Given the description of an element on the screen output the (x, y) to click on. 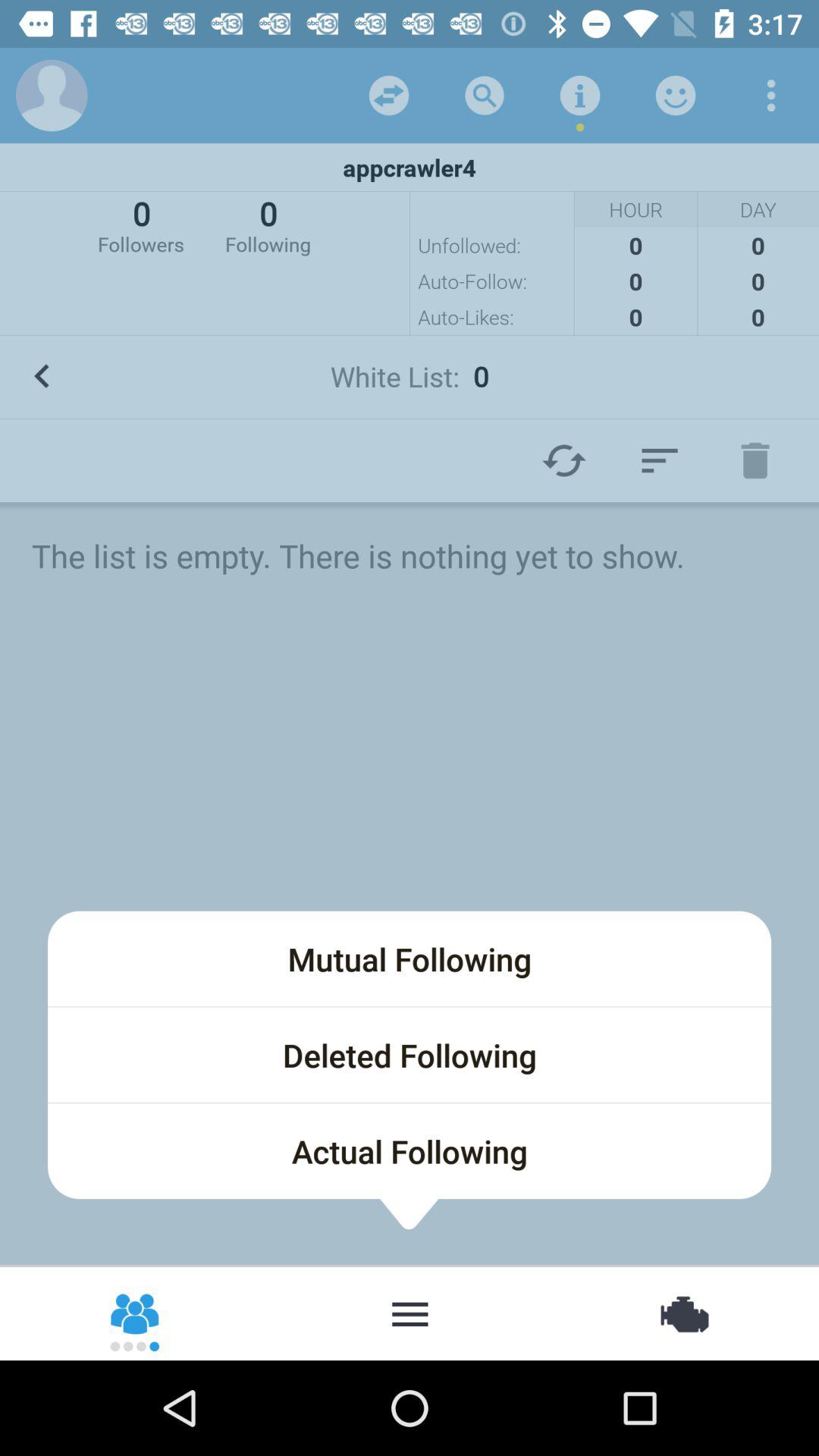
the button signals approval or 'like (675, 95)
